Given the description of an element on the screen output the (x, y) to click on. 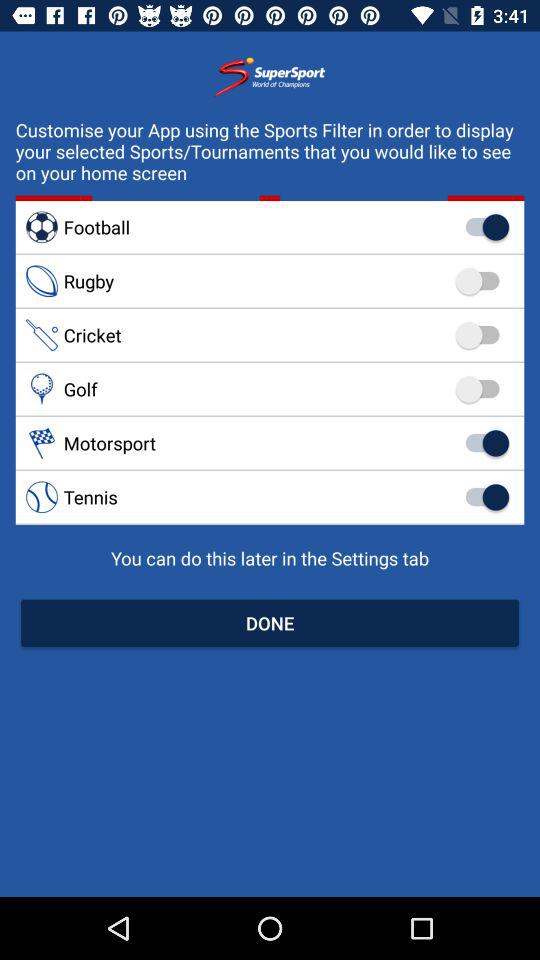
swipe to the motorsport item (269, 442)
